Given the description of an element on the screen output the (x, y) to click on. 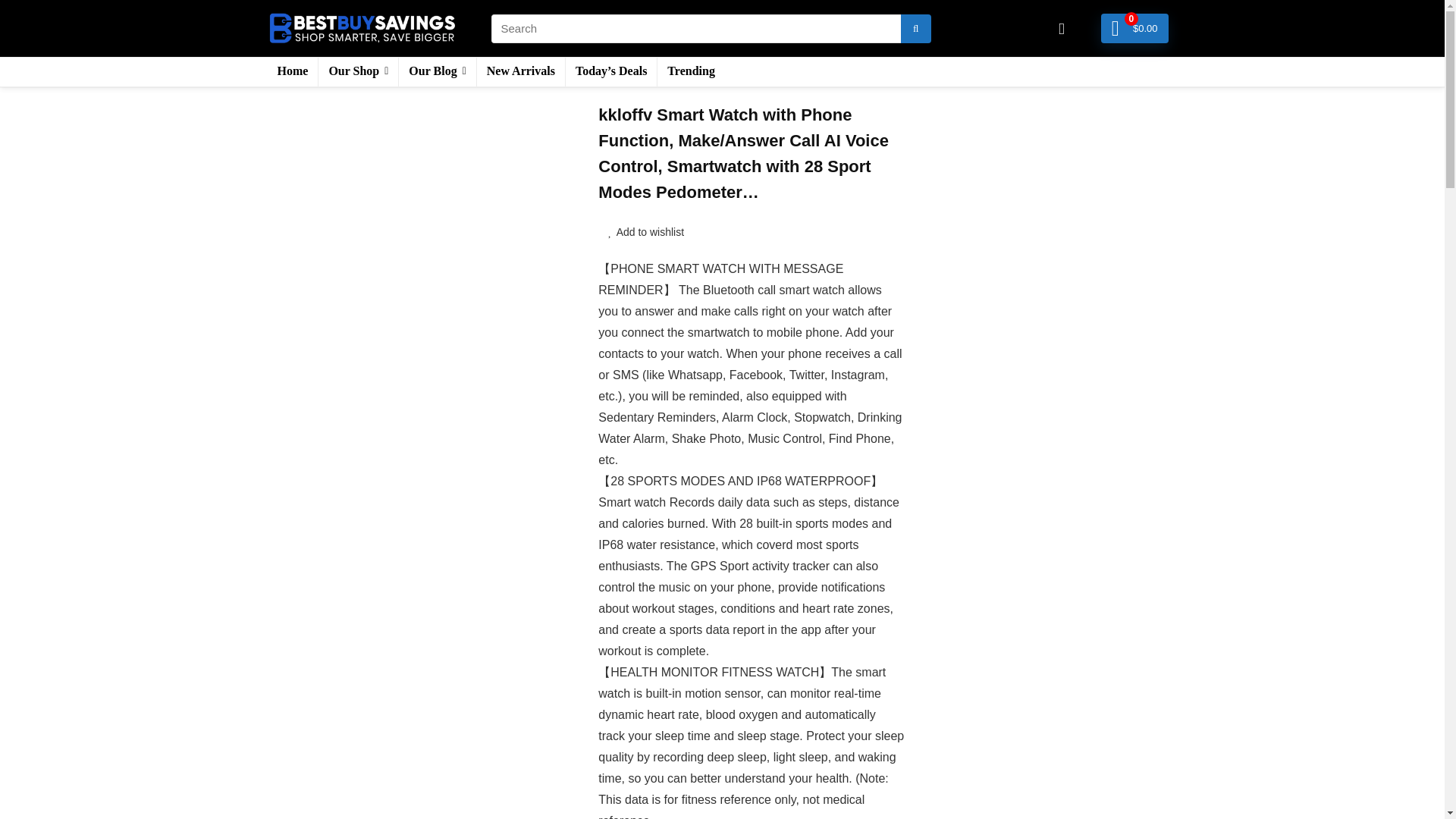
Home (291, 71)
Our Shop (357, 71)
